Given the description of an element on the screen output the (x, y) to click on. 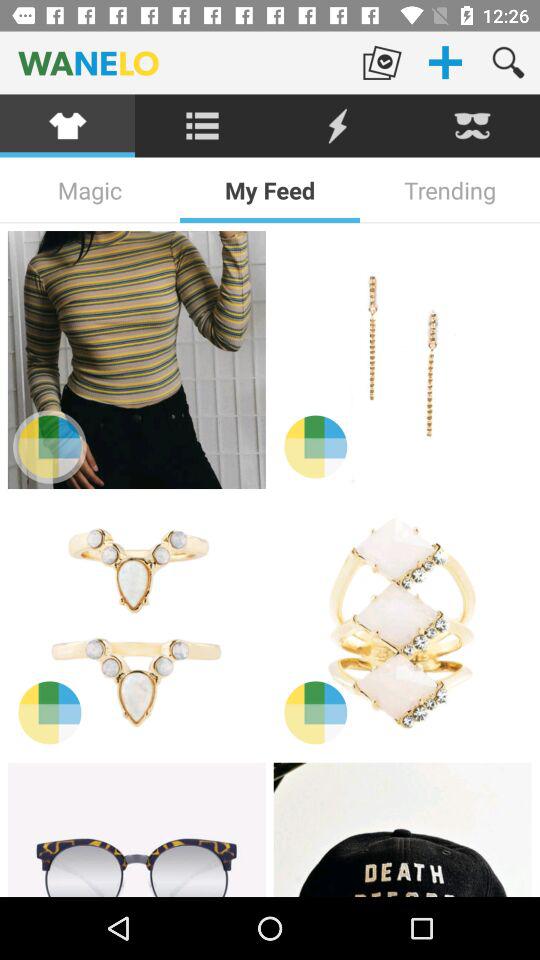
zoom to see (49, 446)
